Given the description of an element on the screen output the (x, y) to click on. 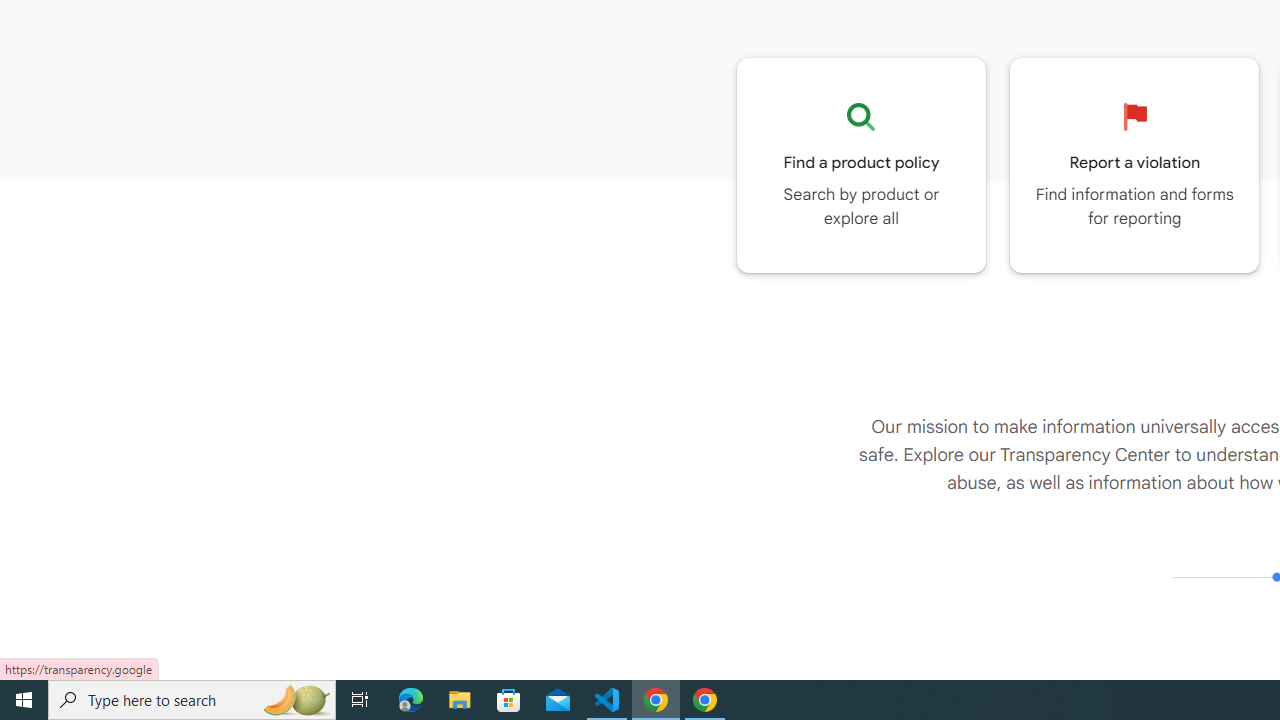
Go to the Reporting and appeals page (1134, 165)
Go to the Product policy page (861, 165)
